Given the description of an element on the screen output the (x, y) to click on. 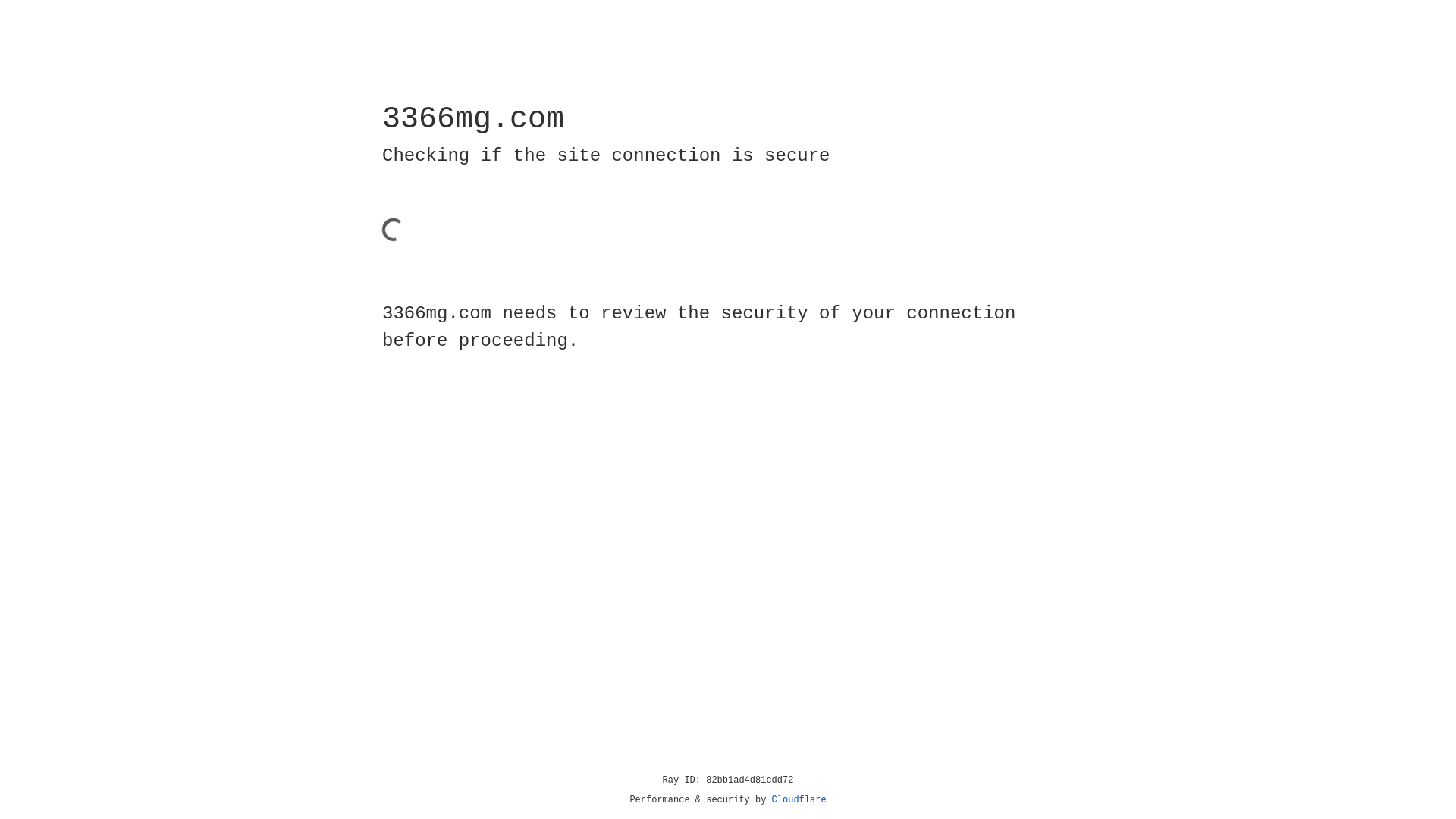
Cloudflare Element type: text (798, 799)
